Given the description of an element on the screen output the (x, y) to click on. 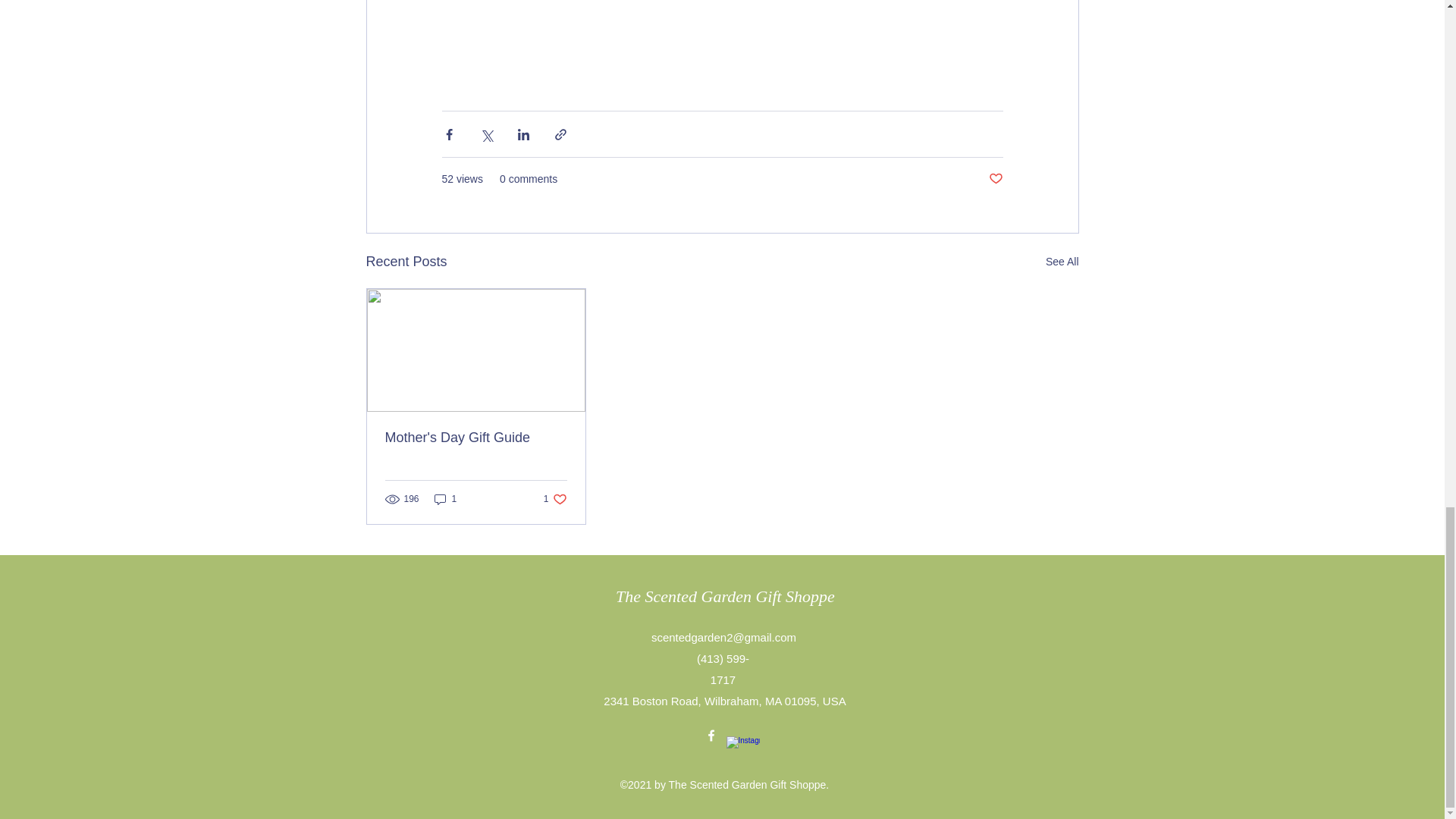
1 (445, 499)
The Scented Garden Gift Shoppe (724, 596)
See All (1061, 261)
Mother's Day Gift Guide (476, 437)
Post not marked as liked (555, 499)
